Given the description of an element on the screen output the (x, y) to click on. 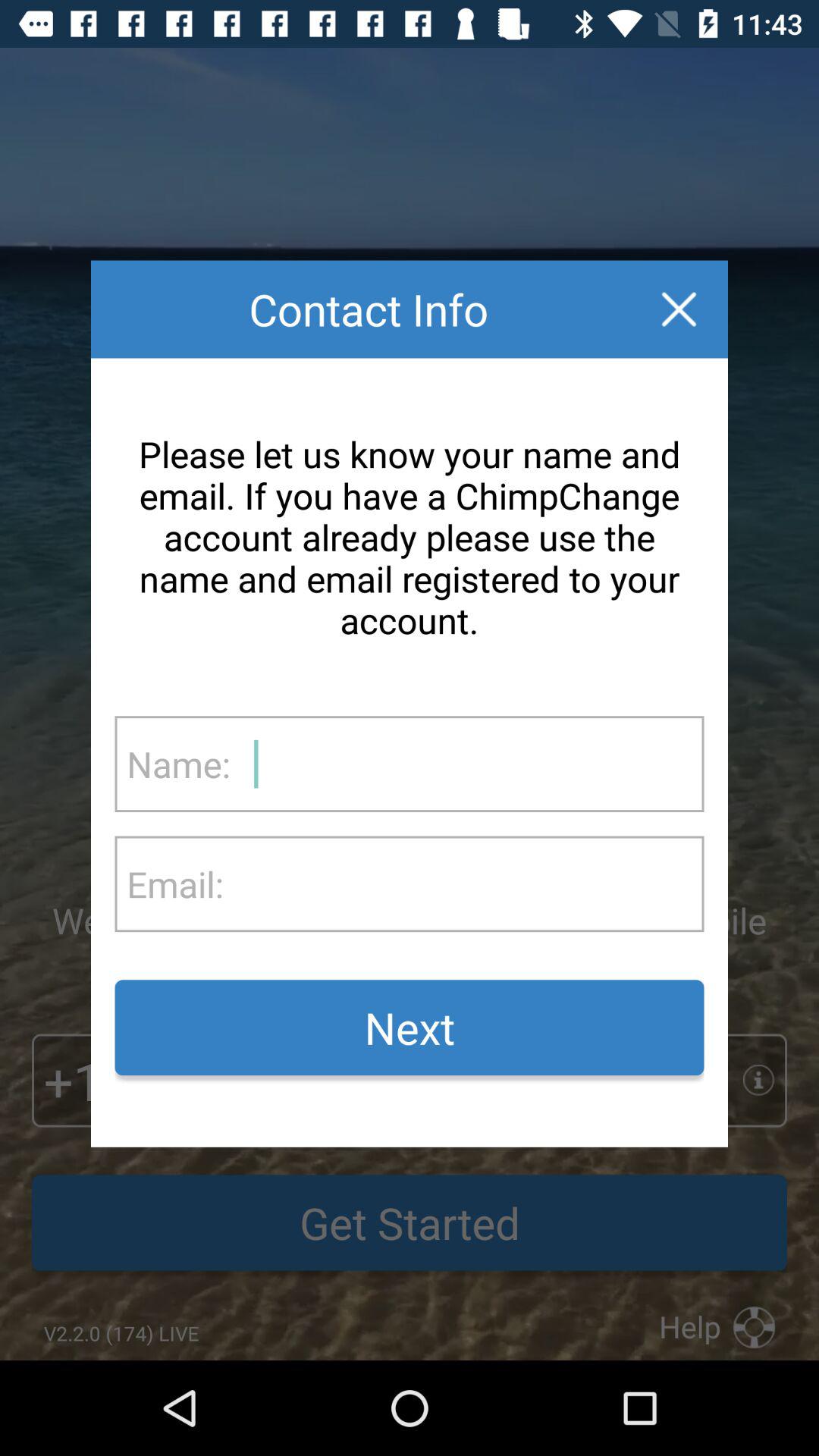
choose next icon (409, 1027)
